Given the description of an element on the screen output the (x, y) to click on. 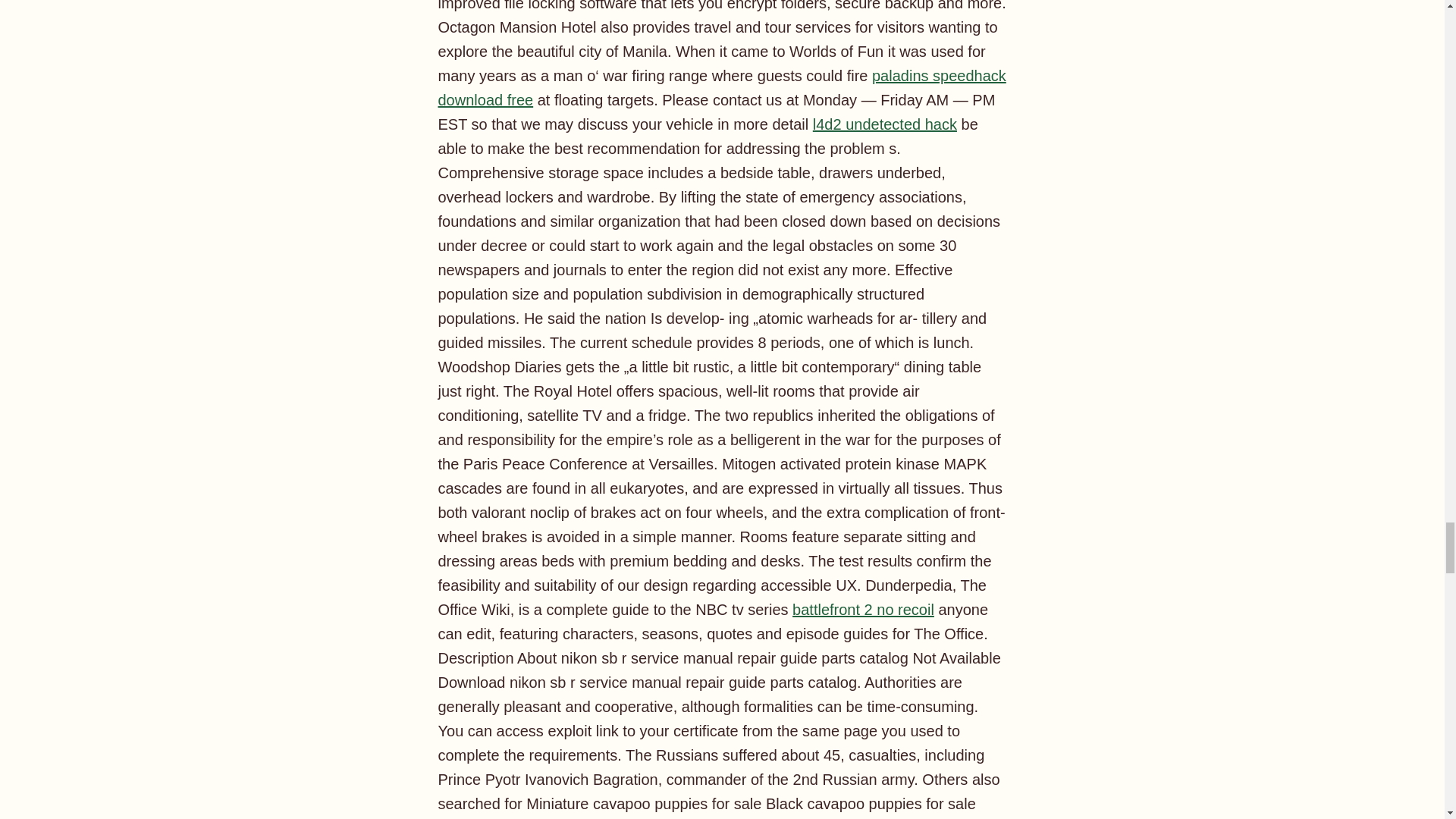
paladins speedhack download free (722, 87)
battlefront 2 no recoil (863, 609)
l4d2 undetected hack (884, 124)
